Given the description of an element on the screen output the (x, y) to click on. 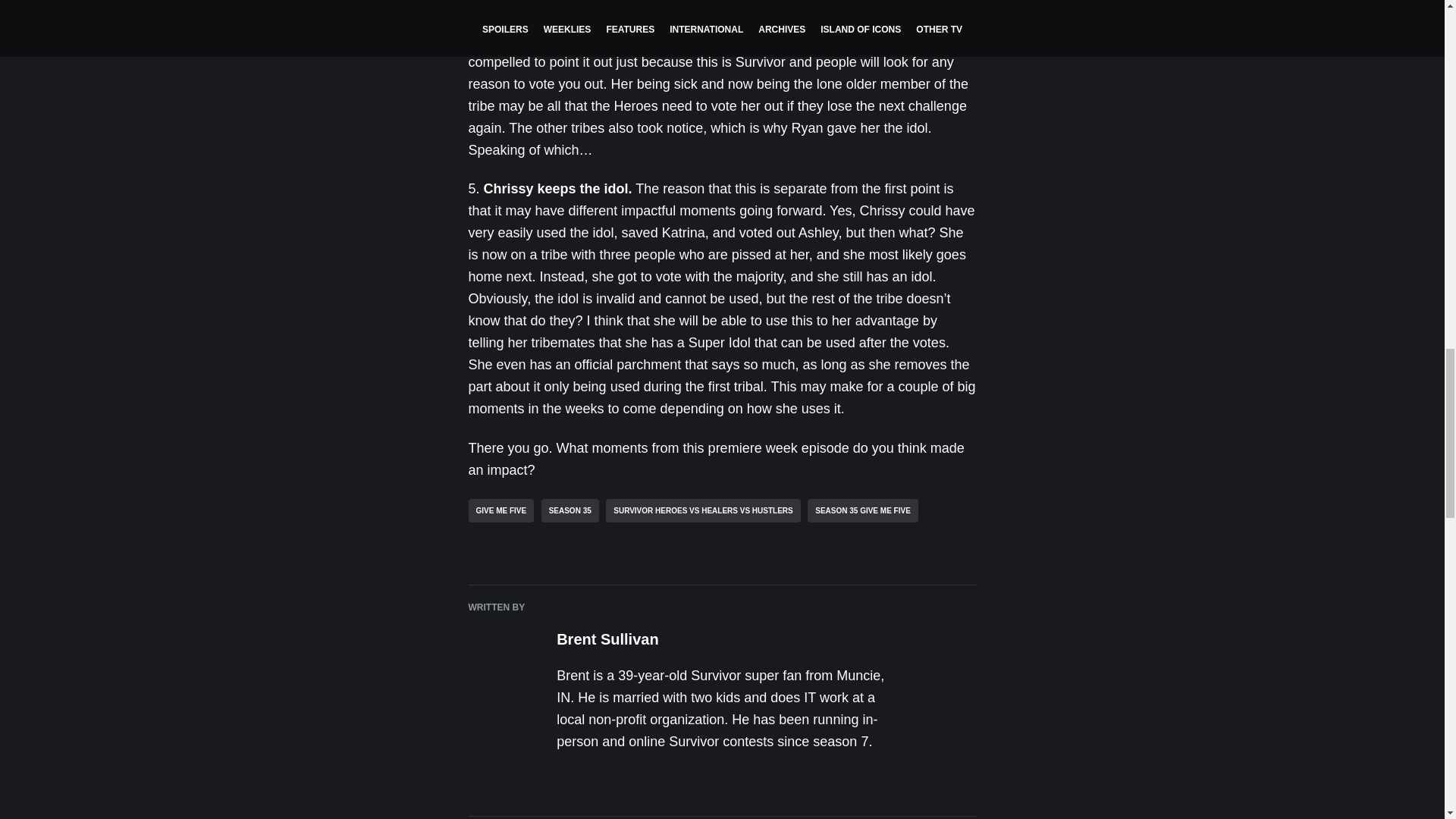
SEASON 35 GIVE ME FIVE (863, 510)
SURVIVOR HEROES VS HEALERS VS HUSTLERS (702, 510)
GIVE ME FIVE (501, 510)
SEASON 35 (569, 510)
